Given the description of an element on the screen output the (x, y) to click on. 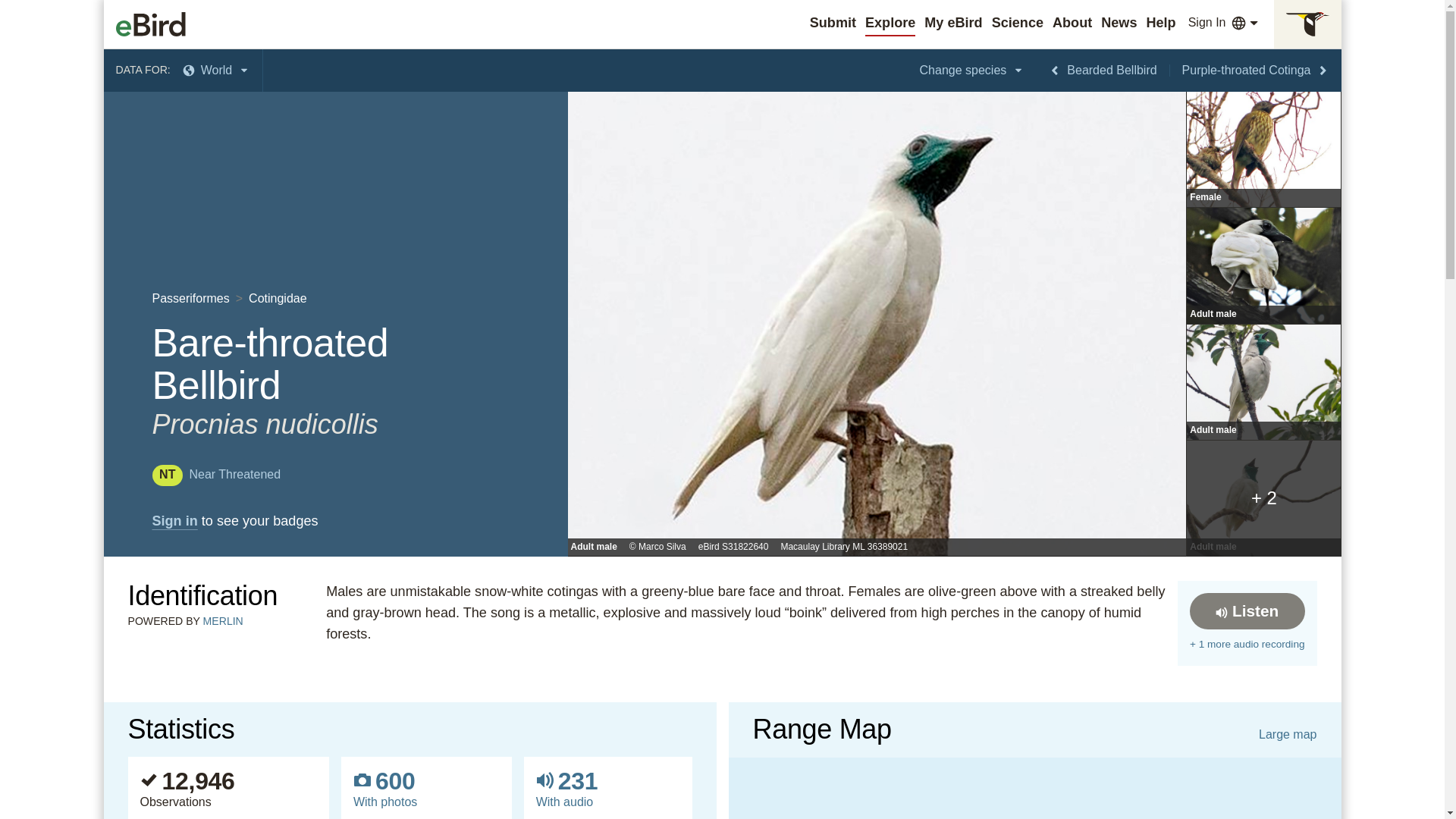
Help (1159, 23)
Purple-throated Cotinga (1255, 70)
Bearded Bellbird (1102, 70)
Change species (971, 70)
Explore (889, 23)
My eBird (952, 23)
Macaulay Library ML 36389021 (843, 547)
Global IUCN 2023 Red List category (216, 473)
Science (1017, 23)
News (1118, 23)
World (216, 70)
eBird S31822640 (733, 547)
Sign In (1206, 23)
About (1072, 23)
